Given the description of an element on the screen output the (x, y) to click on. 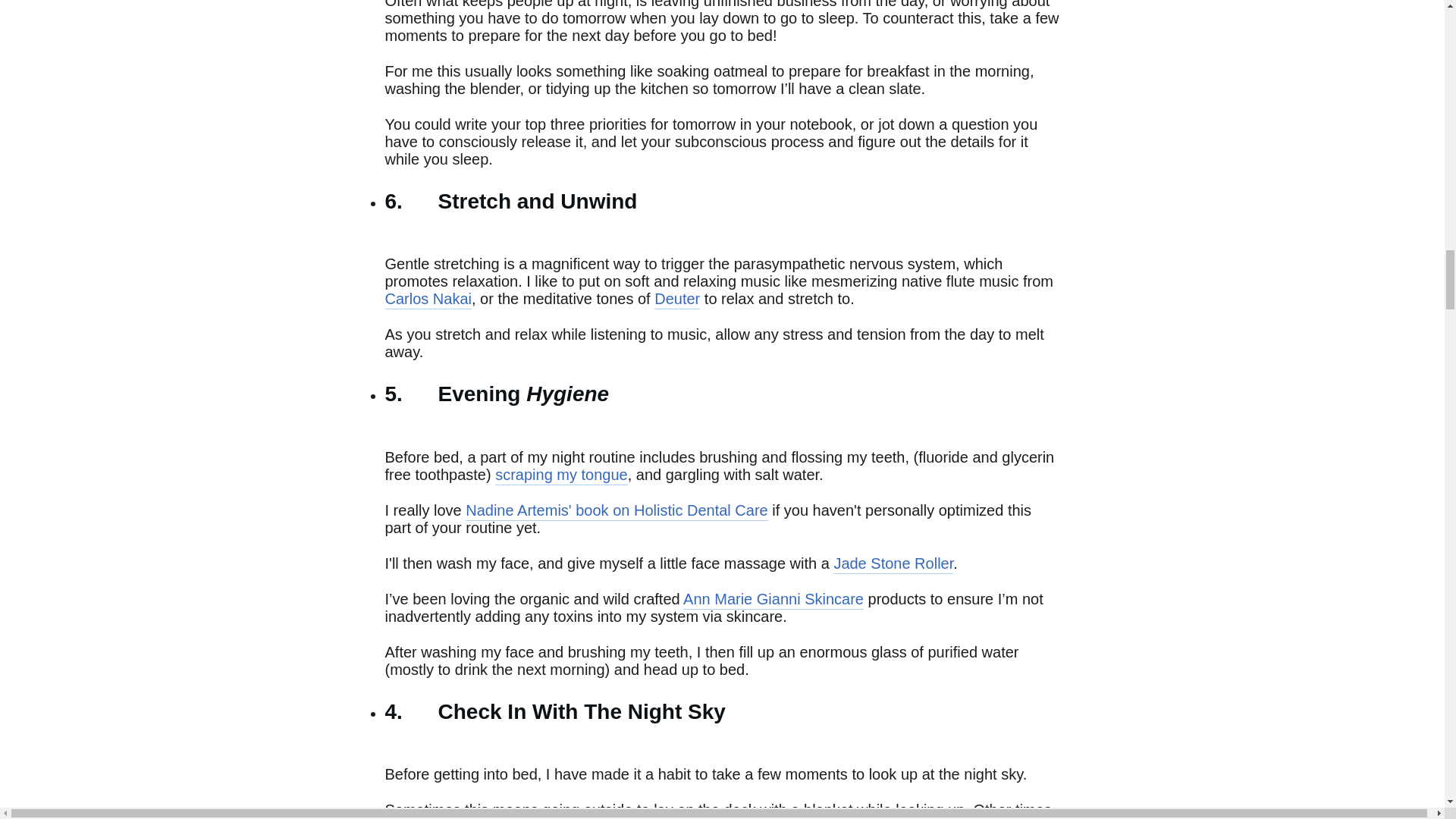
Nadine Artemis' book on Holistic Dental Care (616, 511)
Jade Stone Roller (892, 564)
scraping my tongue (561, 475)
Deuter (676, 299)
Carlos Nakai (428, 299)
Ann Marie Gianni Skincare (772, 599)
